Given the description of an element on the screen output the (x, y) to click on. 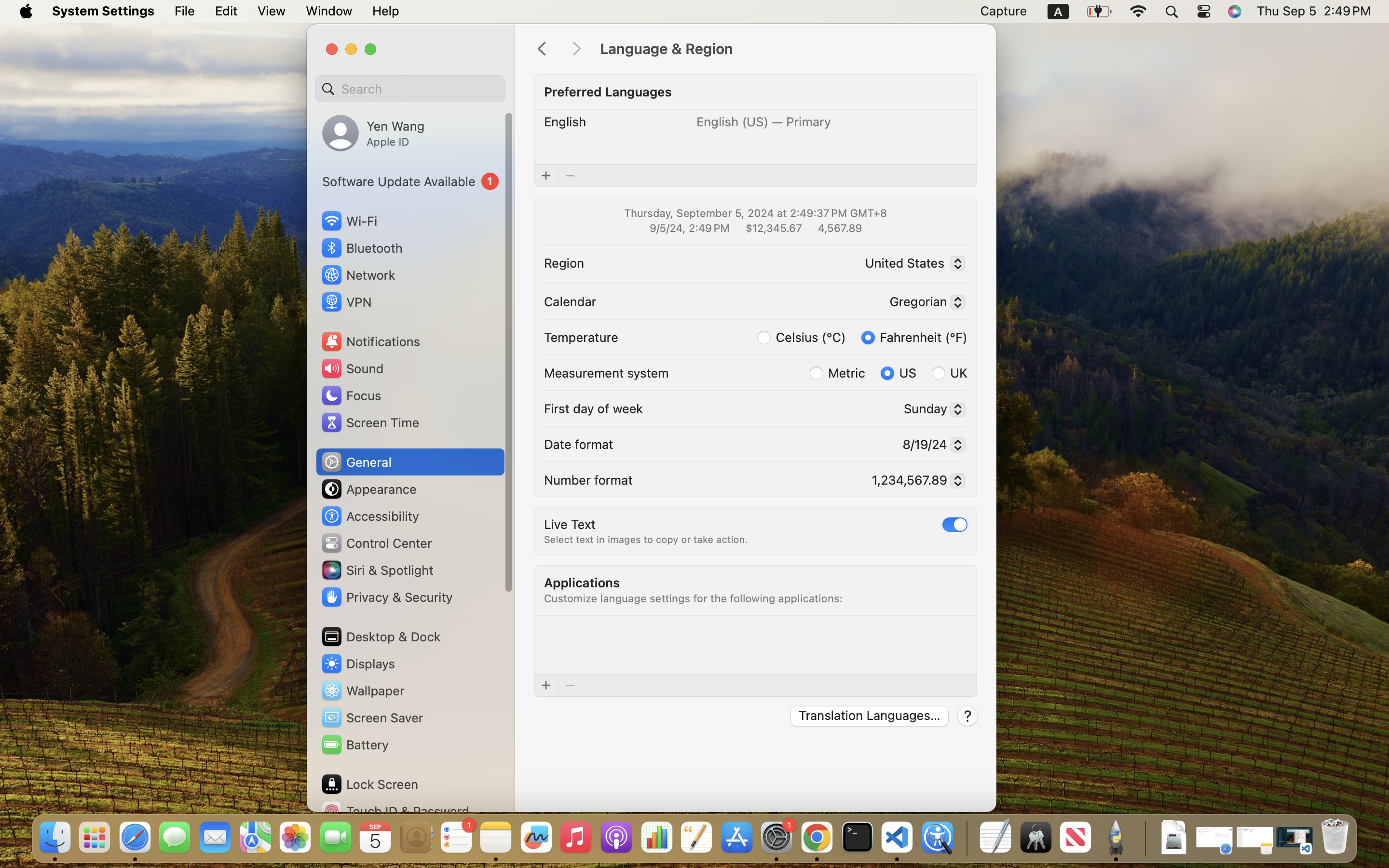
Screen Time Element type: AXStaticText (369, 422)
1 Element type: AXRadioButton (914, 336)
Control Center Element type: AXStaticText (376, 542)
Appearance Element type: AXStaticText (368, 488)
Temperature Element type: AXStaticText (581, 336)
